Given the description of an element on the screen output the (x, y) to click on. 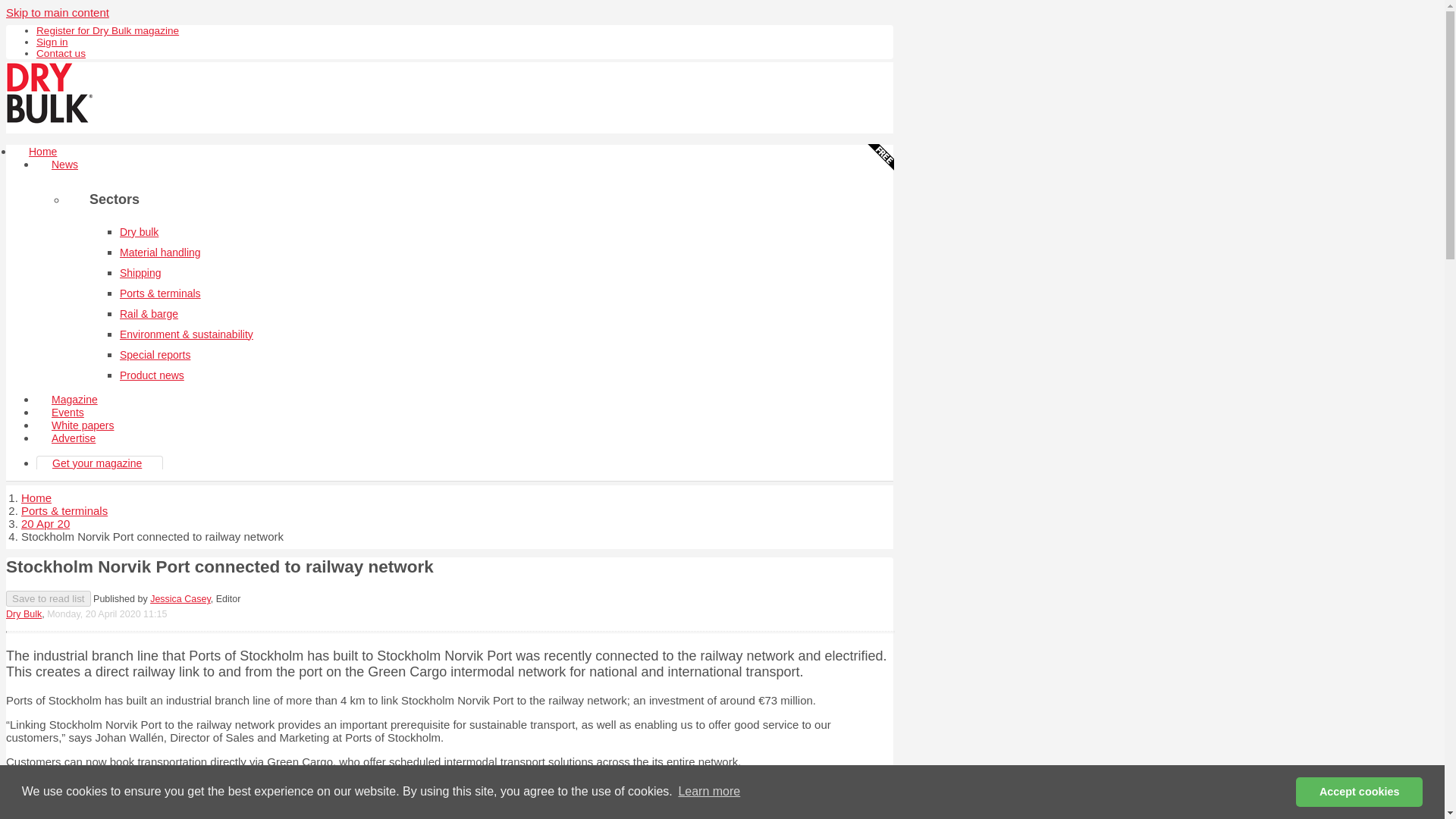
Dry Bulk (23, 614)
White papers (82, 424)
Sign in (52, 41)
Learn more (708, 791)
Sign in (52, 41)
Dry bulk (138, 232)
Save to read list (47, 598)
Special reports (154, 354)
Product news (151, 375)
Advertise (73, 438)
20 Apr 20 (45, 522)
Jessica Casey (180, 598)
Accept cookies (1358, 791)
Magazine (74, 399)
Register for your magazine (107, 30)
